Given the description of an element on the screen output the (x, y) to click on. 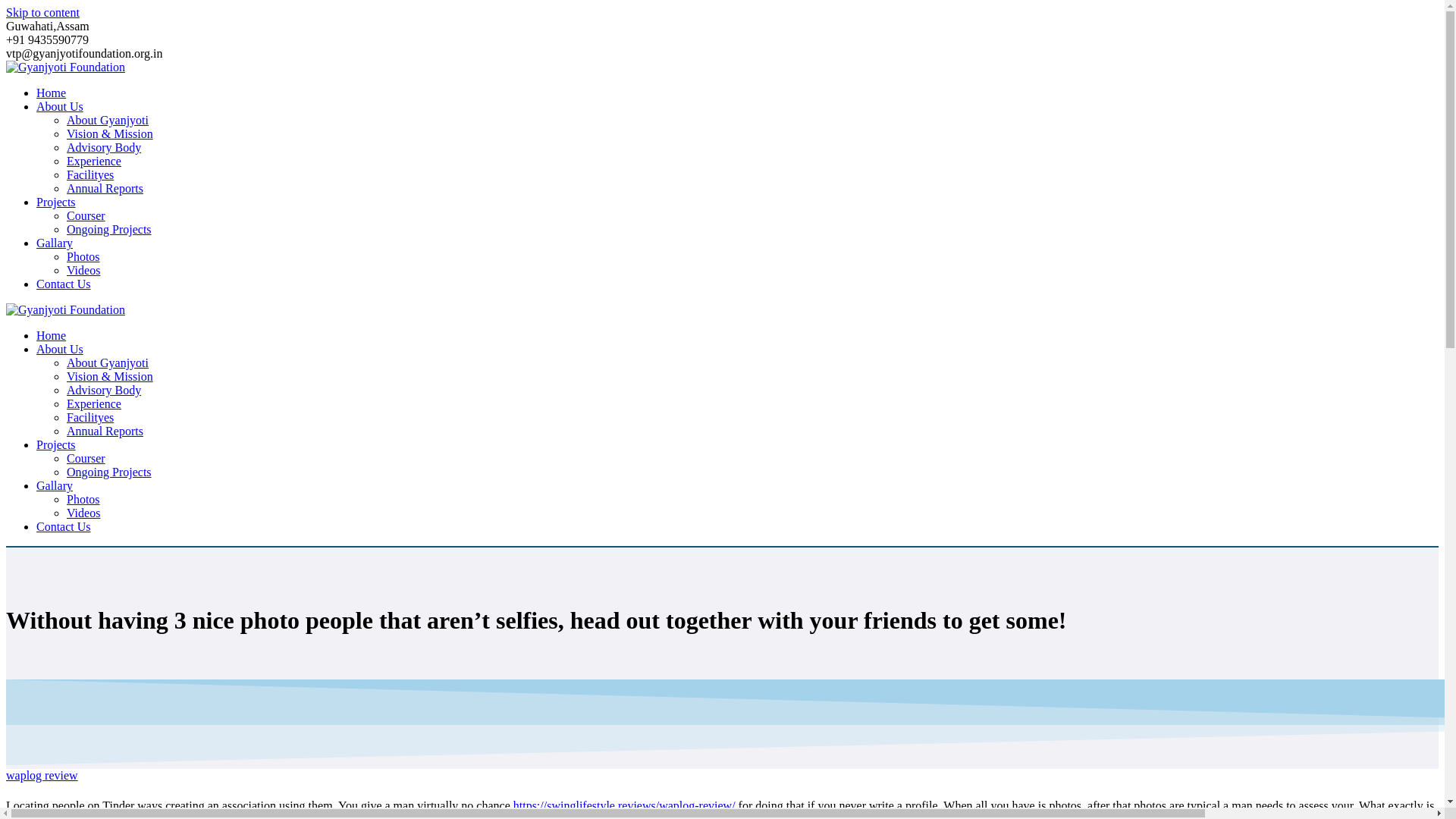
About Gyanjyoti (107, 119)
Home (50, 92)
Photos (83, 256)
Gallary (54, 485)
Facilityes (89, 174)
Courser (85, 458)
About Us (59, 349)
Facilityes (89, 417)
Home (50, 335)
Experience (93, 403)
Courser (85, 215)
Advisory Body (103, 390)
Contact Us (63, 526)
Gallary (54, 242)
About Gyanjyoti (107, 362)
